Given the description of an element on the screen output the (x, y) to click on. 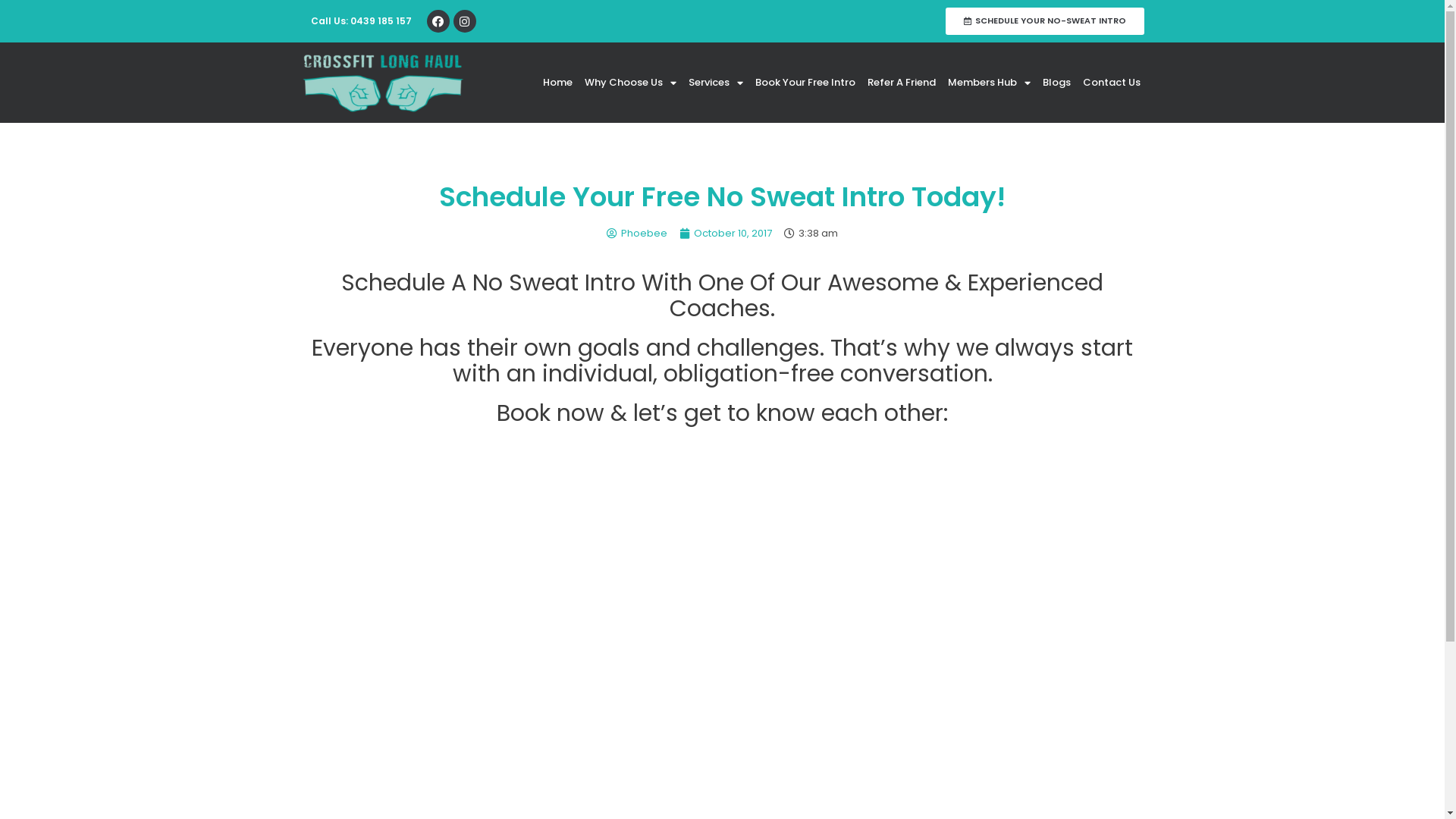
Book Your Free Intro Element type: text (805, 82)
Refer A Friend Element type: text (901, 82)
Services Element type: text (715, 82)
October 10, 2017 Element type: text (725, 233)
Members Hub Element type: text (988, 82)
SCHEDULE YOUR NO-SWEAT INTRO Element type: text (1044, 20)
Home Element type: text (557, 82)
Contact Us Element type: text (1111, 82)
Why Choose Us Element type: text (630, 82)
Phoebee Element type: text (636, 233)
Blogs Element type: text (1056, 82)
